Given the description of an element on the screen output the (x, y) to click on. 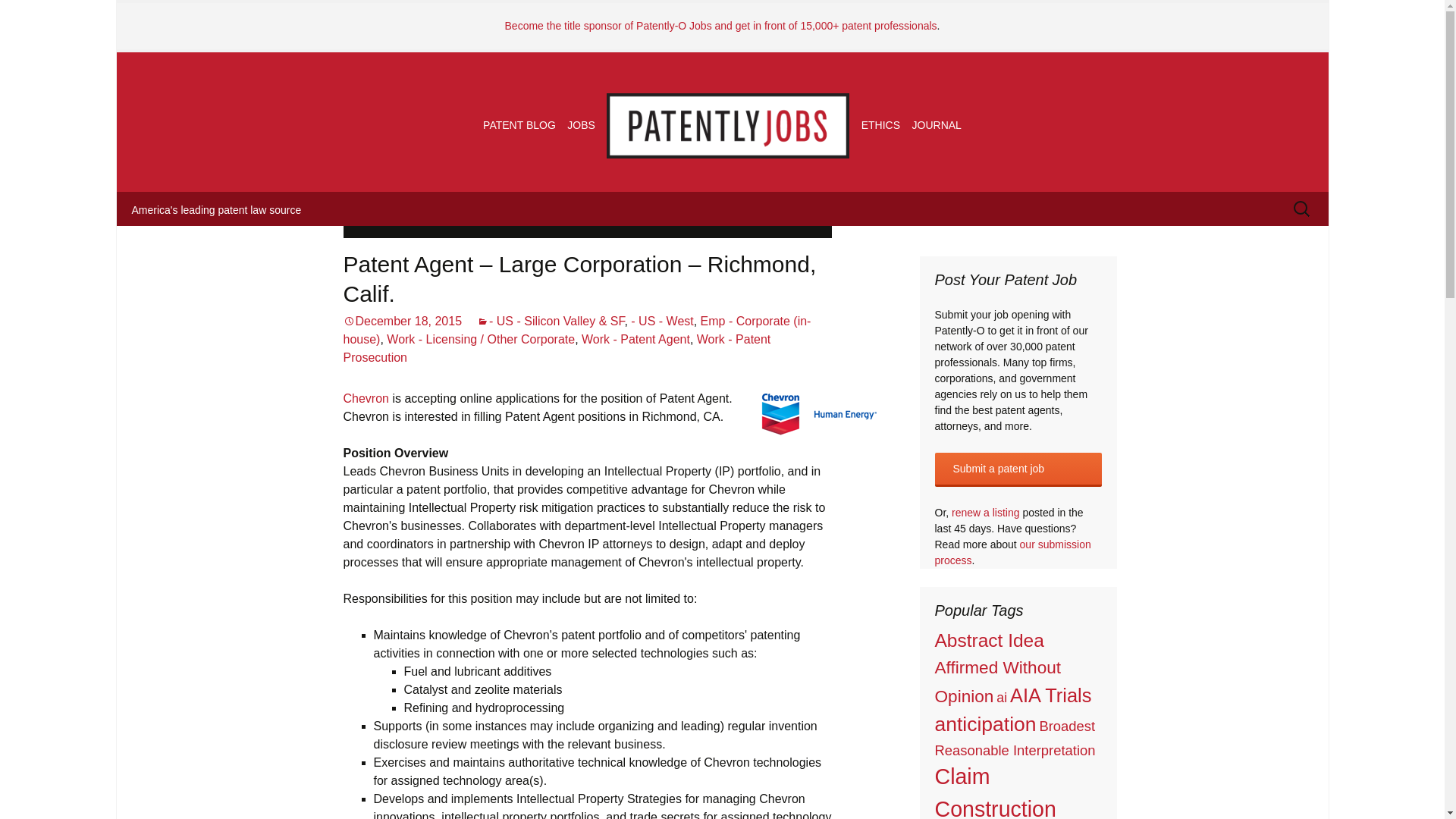
Work - Patent Prosecution (556, 347)
Patent Law Journal from Patently-O (936, 124)
Patent law and IP law jobs from Patently-O (727, 125)
our submission process (1012, 552)
Submit a patent job (1017, 469)
Chevron (365, 398)
- US - West (661, 320)
Patent law ethics by Hricik from Patently-O (880, 124)
December 18, 2015 (401, 320)
JOBS (581, 124)
